Given the description of an element on the screen output the (x, y) to click on. 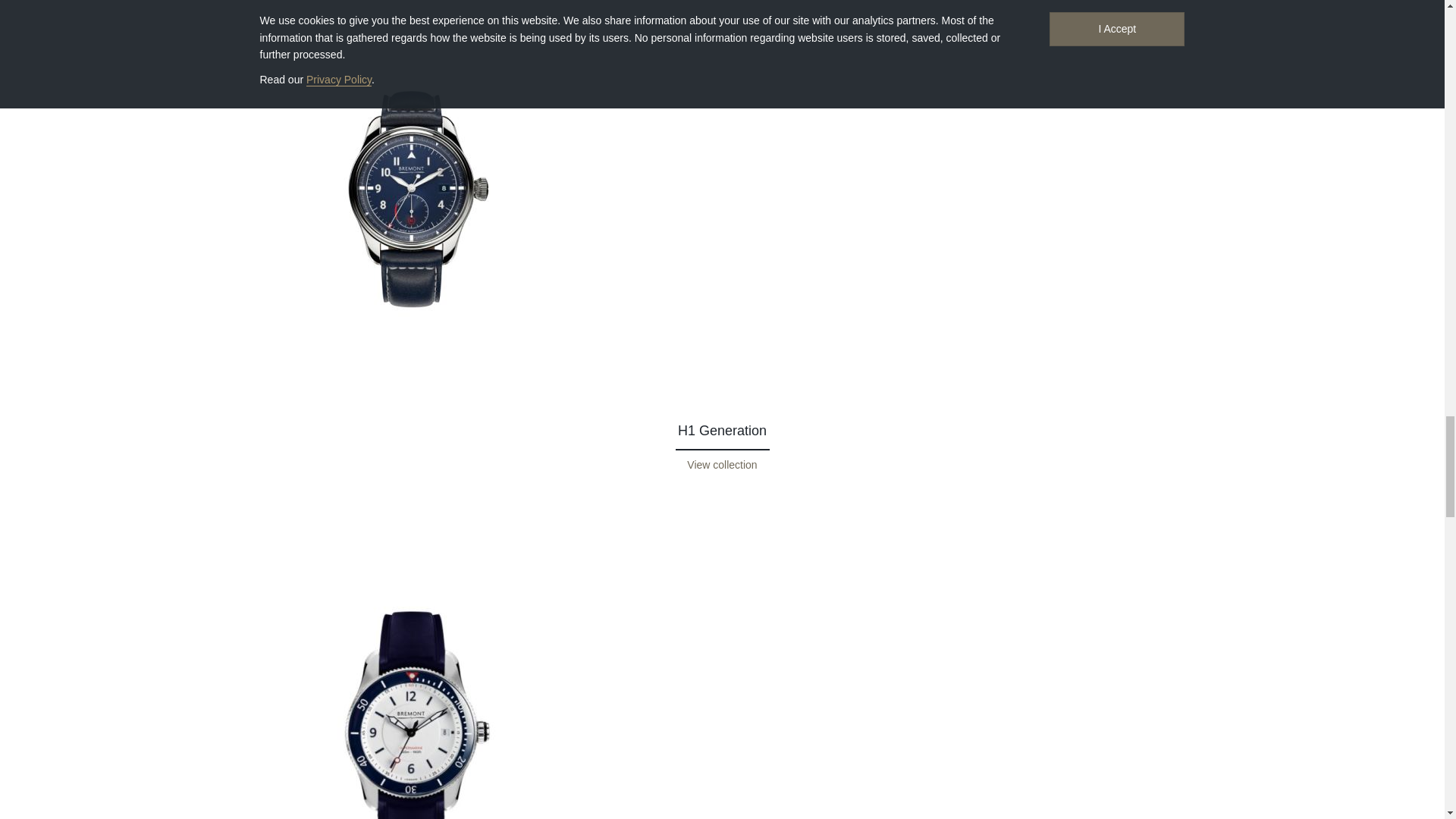
View the Bremont H1 Generation collection of watches (722, 464)
